Given the description of an element on the screen output the (x, y) to click on. 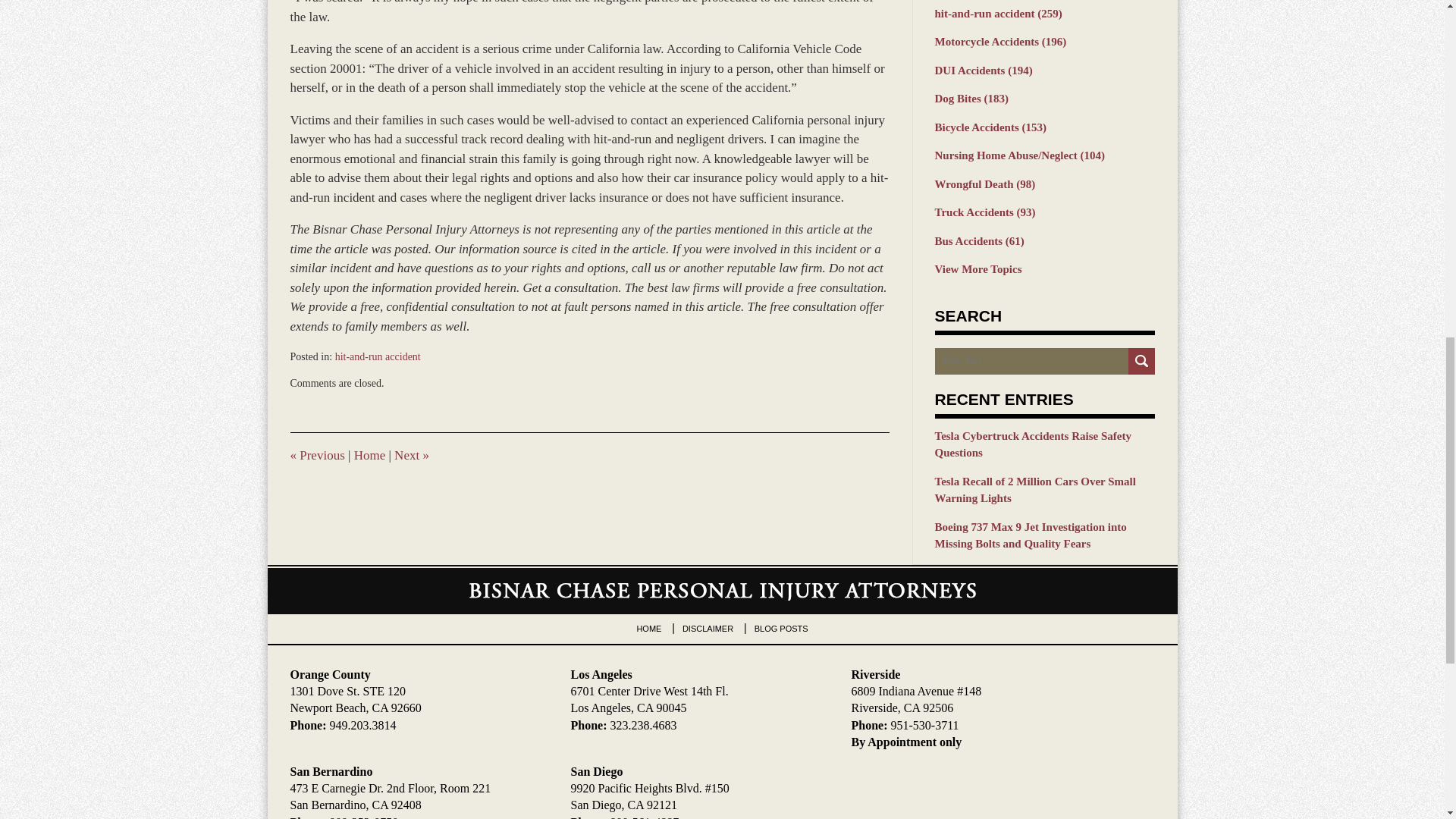
View More Topics (1044, 269)
Home (369, 454)
Tesla Recall of 2 Million Cars Over Small Warning Lights (1044, 489)
The difference between DUI, DWI, OUI and OWI (316, 454)
SEARCH (1141, 361)
Tesla Cybertruck Accidents Raise Safety Questions (1044, 444)
Man Killed in Car Accident at Dangerous Gilroy Intersection (411, 454)
hit-and-run accident (377, 356)
View all posts in hit-and-run accident (377, 356)
